Given the description of an element on the screen output the (x, y) to click on. 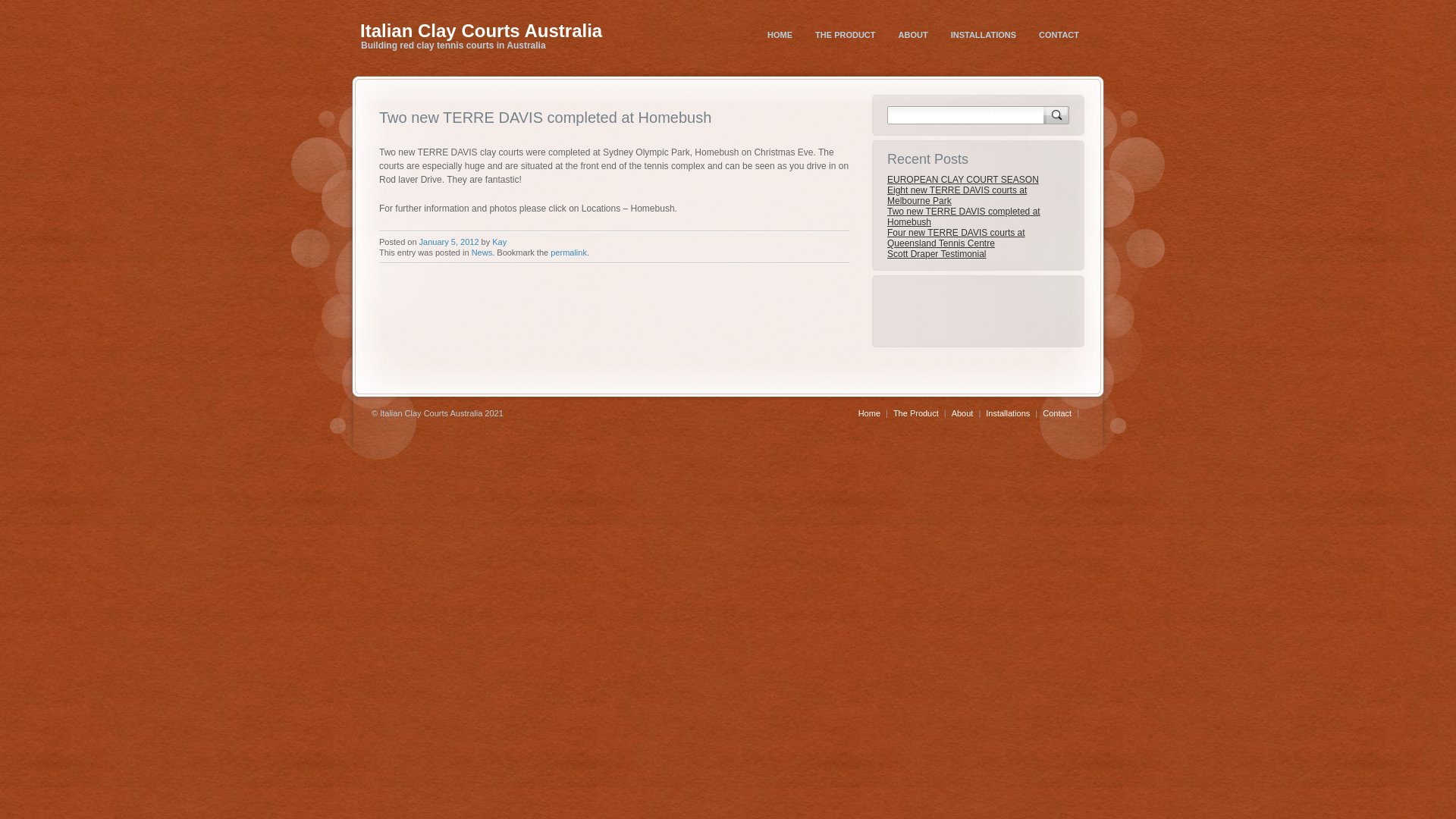
News Element type: text (481, 252)
HOME Element type: text (779, 34)
January 5, 2012 Element type: text (449, 241)
permalink Element type: text (568, 252)
Contact Element type: text (1056, 412)
Kay Element type: text (499, 241)
Two new TERRE DAVIS completed at Homebush Element type: text (963, 216)
Four new TERRE DAVIS courts at Queensland Tennis Centre Element type: text (956, 237)
ABOUT Element type: text (913, 34)
About Element type: text (962, 412)
CONTACT Element type: text (1058, 34)
Home Element type: text (869, 412)
Installations Element type: text (1007, 412)
THE PRODUCT Element type: text (844, 34)
Scott Draper Testimonial Element type: text (936, 253)
The Product Element type: text (915, 412)
Eight new TERRE DAVIS courts at Melbourne Park Element type: text (956, 195)
EUROPEAN CLAY COURT SEASON Element type: text (962, 179)
INSTALLATIONS Element type: text (983, 34)
Search Element type: text (1056, 115)
